Given the description of an element on the screen output the (x, y) to click on. 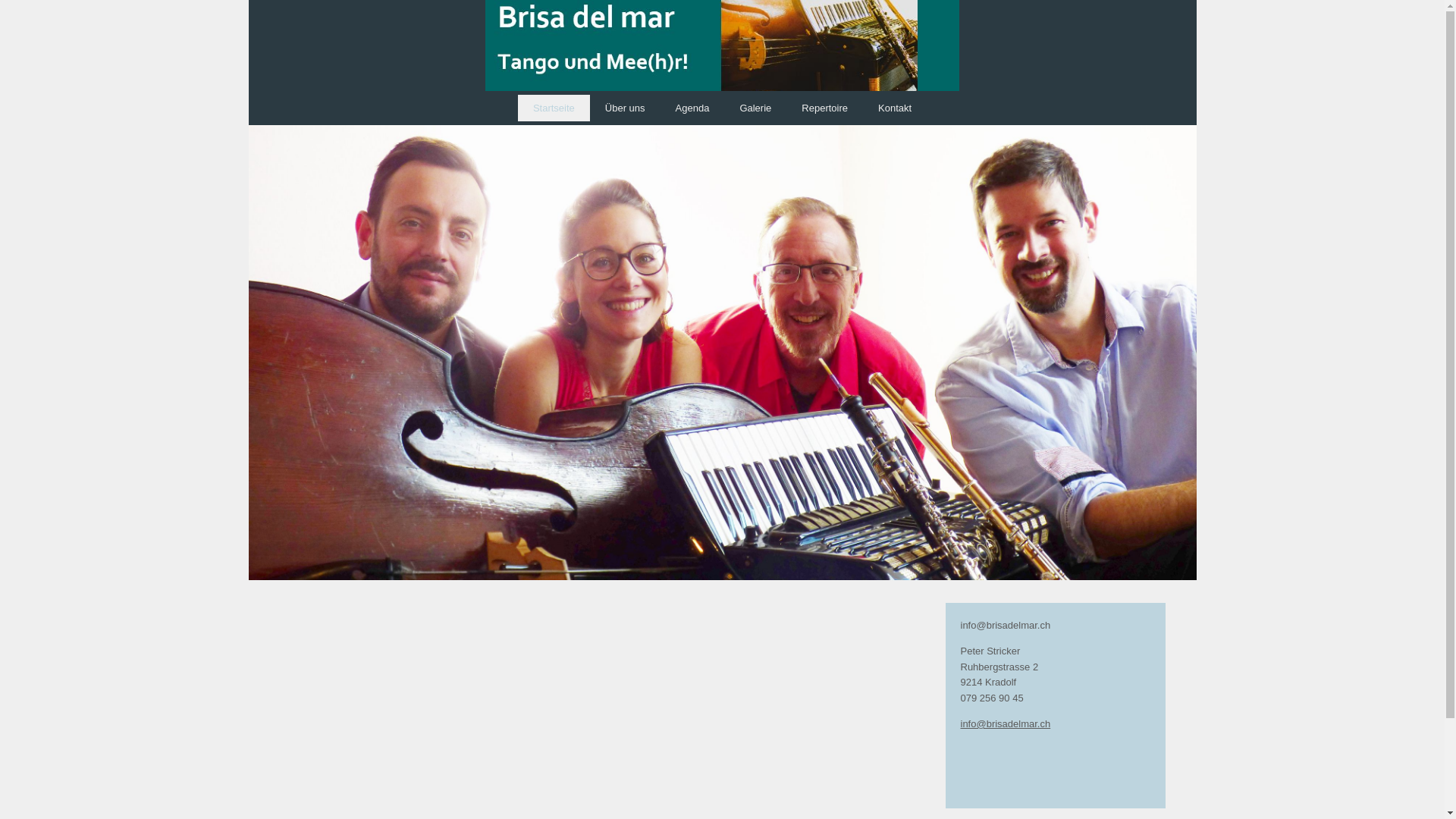
Agenda Element type: text (692, 107)
Galerie Element type: text (755, 107)
Repertoire Element type: text (824, 107)
Kontakt Element type: text (894, 107)
info@brisadelmar.ch Element type: text (1005, 723)
Startseite Element type: text (553, 107)
